Given the description of an element on the screen output the (x, y) to click on. 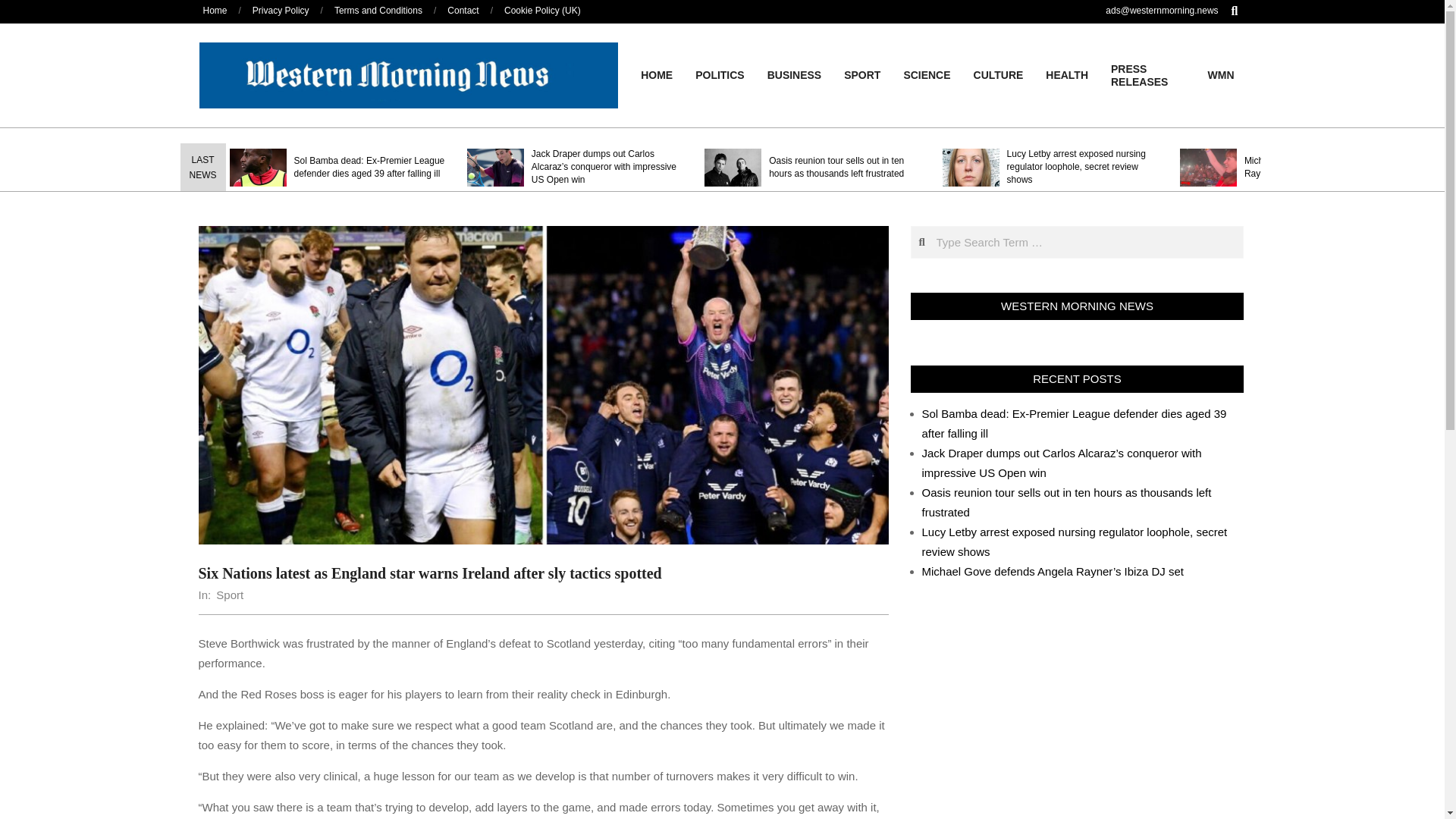
Privacy Policy (279, 9)
Contact (462, 9)
SPORT (861, 74)
POLITICS (719, 74)
Sport (229, 594)
Home (215, 9)
WMN (1221, 74)
